Given the description of an element on the screen output the (x, y) to click on. 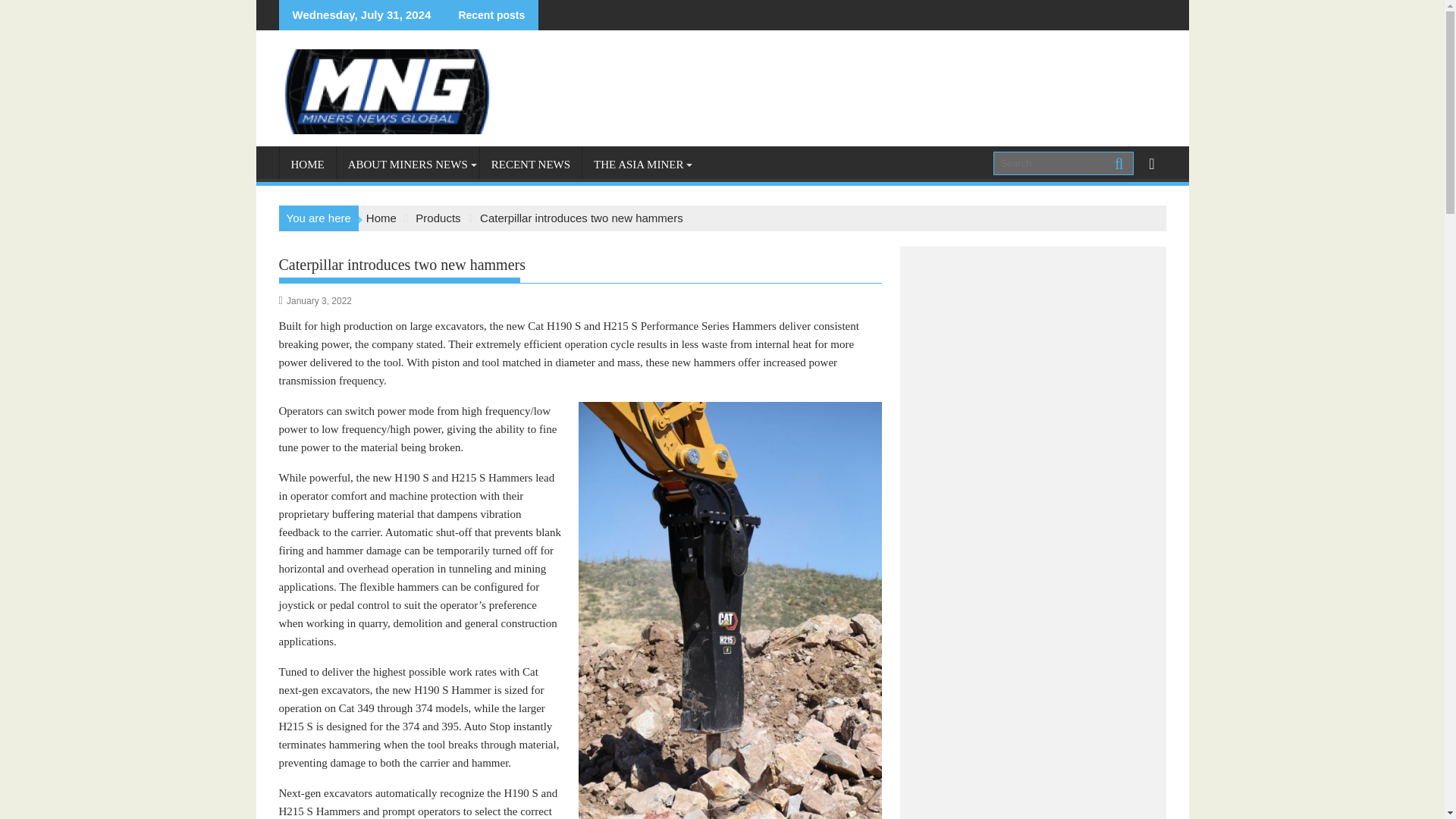
Products (437, 218)
ABOUT MINERS NEWS (407, 164)
HOME (306, 164)
RECENT NEWS (530, 164)
THE ASIA MINER (638, 164)
Home (381, 218)
January 3, 2022 (319, 300)
